Given the description of an element on the screen output the (x, y) to click on. 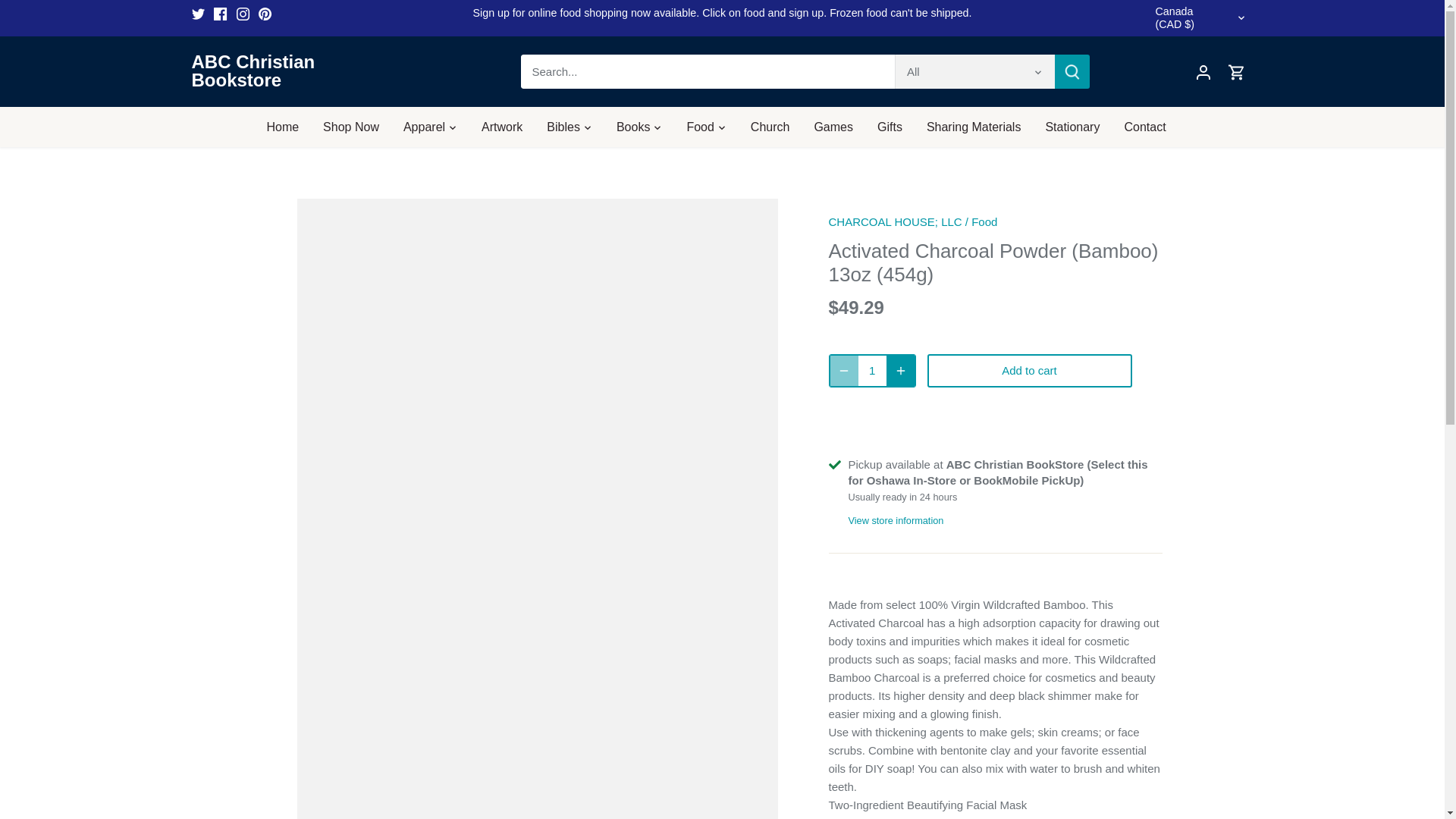
1 (872, 370)
Facebook (220, 13)
Twitter (196, 13)
Instagram (241, 13)
Pinterest (265, 13)
